Given the description of an element on the screen output the (x, y) to click on. 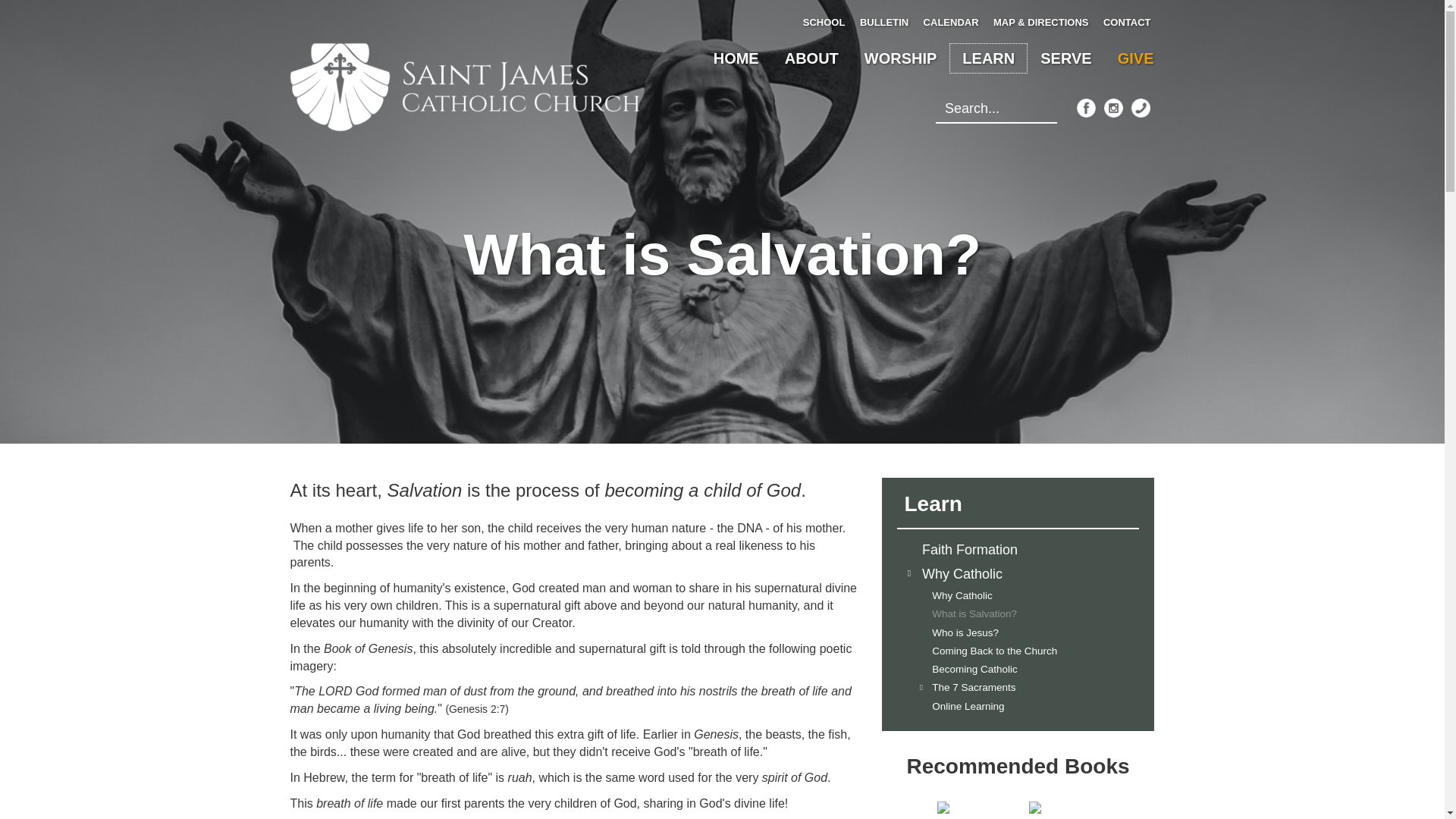
WORSHIP (900, 58)
HOME (735, 58)
CALENDAR (949, 23)
Home (464, 85)
Facebook (1086, 107)
LEARN (988, 58)
Contact (1140, 107)
BULLETIN (882, 23)
Instagram (1112, 107)
Saint James Catholic Church (360, 221)
SCHOOL (822, 23)
SERVE (1065, 58)
CONTACT (1125, 23)
ABOUT (811, 58)
